Given the description of an element on the screen output the (x, y) to click on. 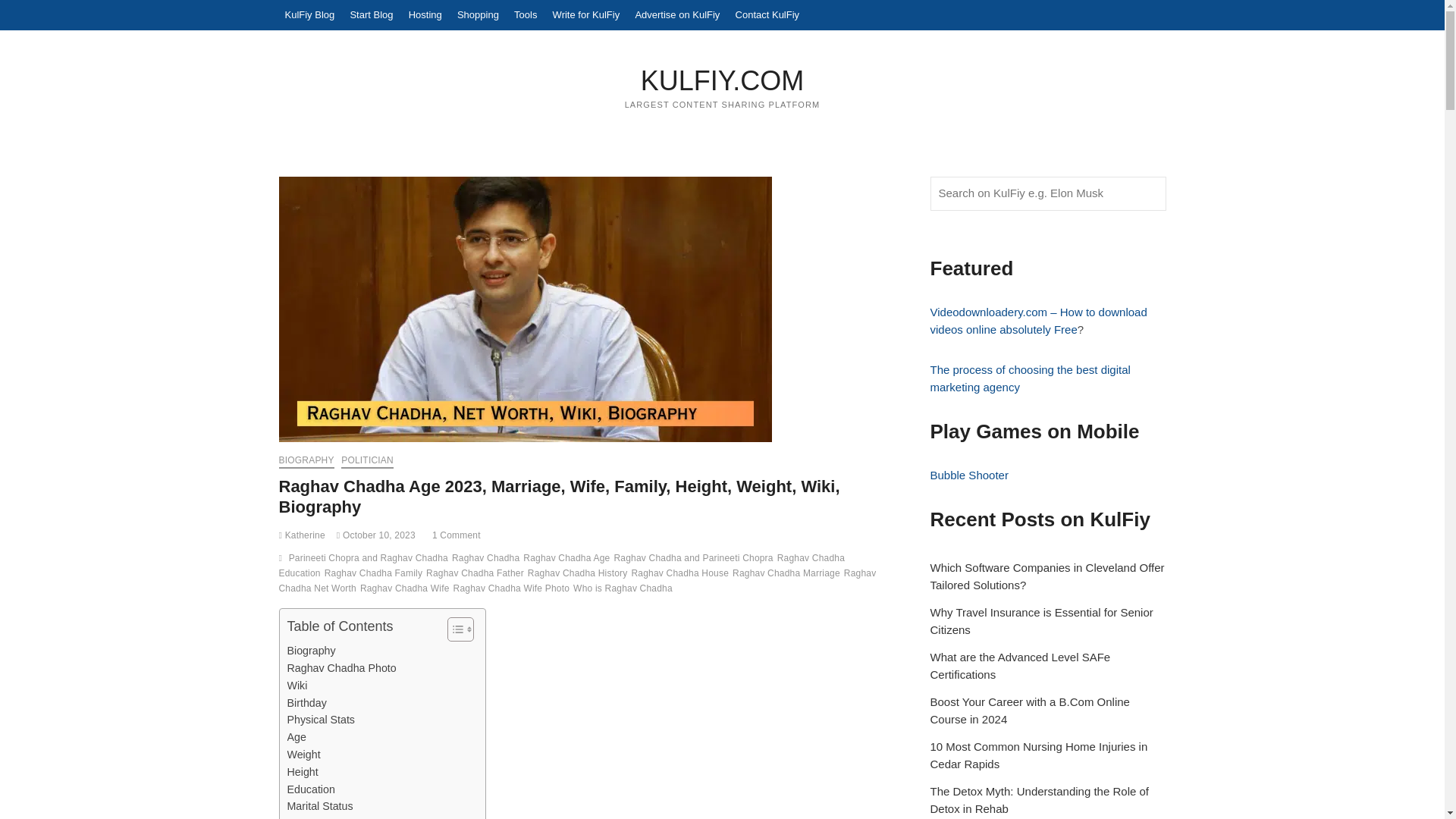
Height (301, 772)
Write for KulFiy (586, 15)
KULFIY.COM (722, 80)
Raghav Chadha Photo (341, 668)
Shopping (478, 15)
Physical Stats (320, 719)
Start Blog (370, 15)
Advertise on KulFiy (676, 15)
Biography (310, 651)
Tools (525, 15)
Birthday  (306, 702)
Weight (303, 754)
Raghav Chadha Marriage (348, 816)
Hosting (425, 15)
